Given the description of an element on the screen output the (x, y) to click on. 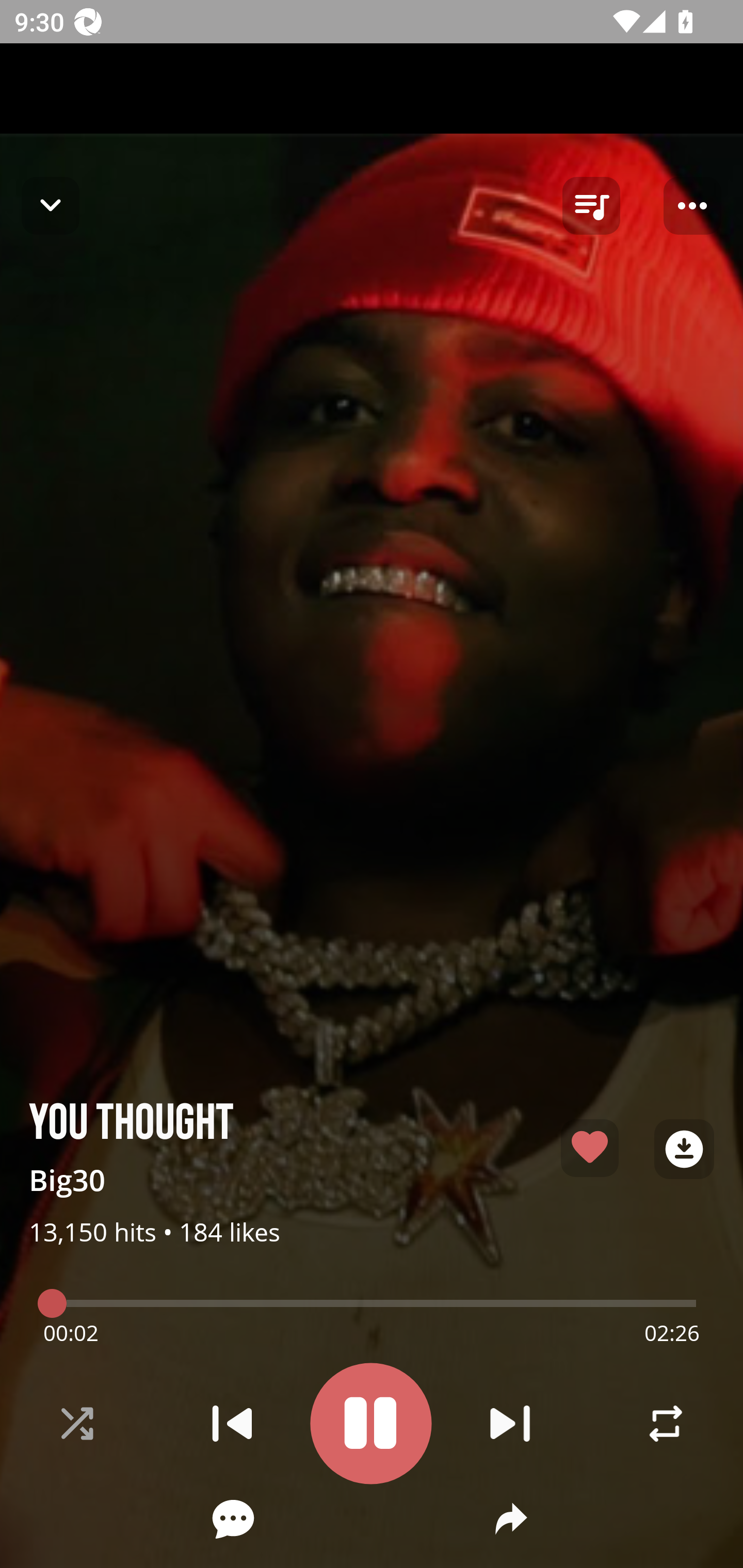
Navigate up (50, 205)
queue (590, 206)
Player options (692, 206)
